Given the description of an element on the screen output the (x, y) to click on. 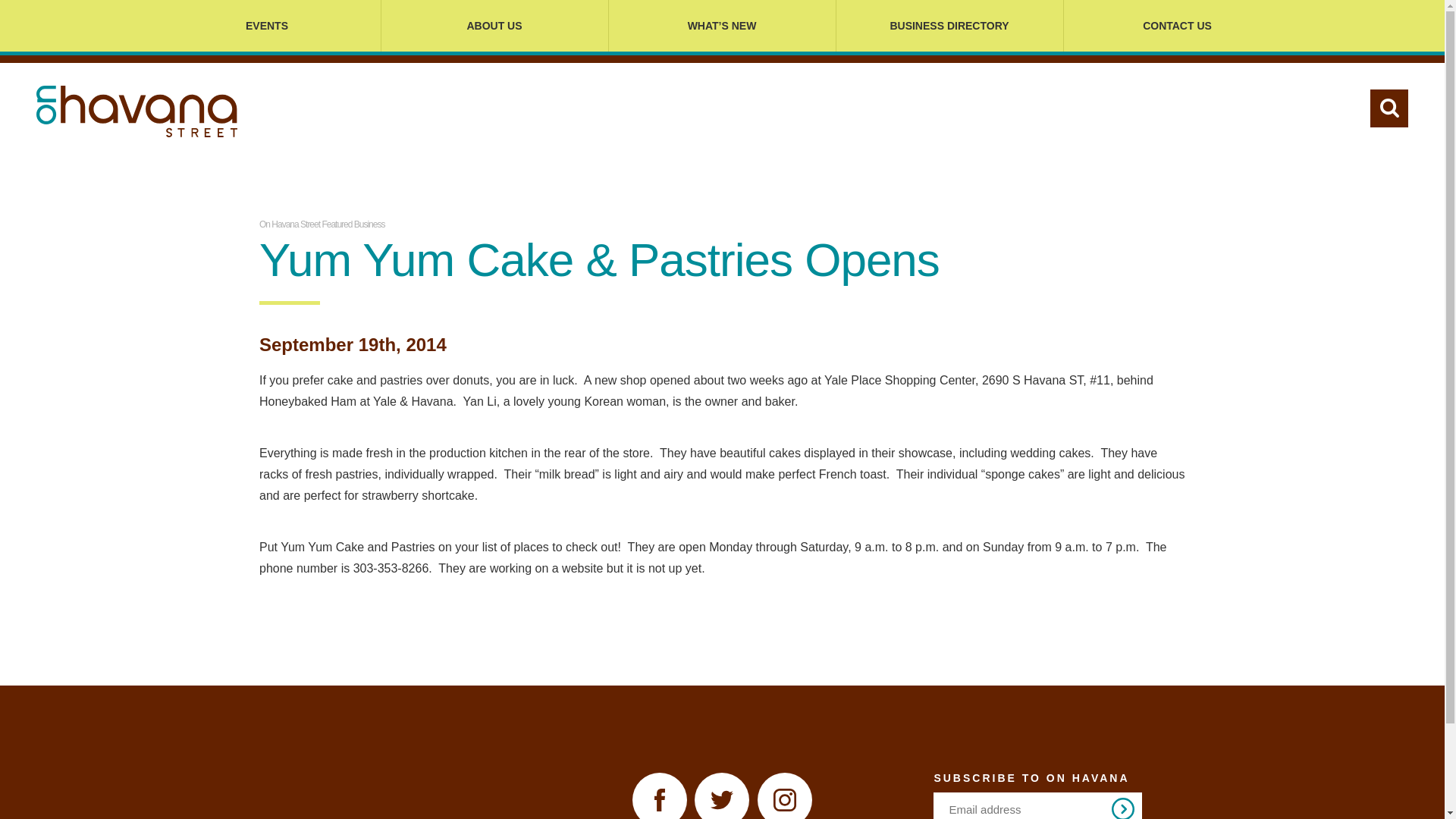
Next (1123, 808)
BUSINESS DIRECTORY (948, 25)
EVENTS (266, 25)
CONTACT US (1176, 25)
ABOUT US (494, 25)
